Given the description of an element on the screen output the (x, y) to click on. 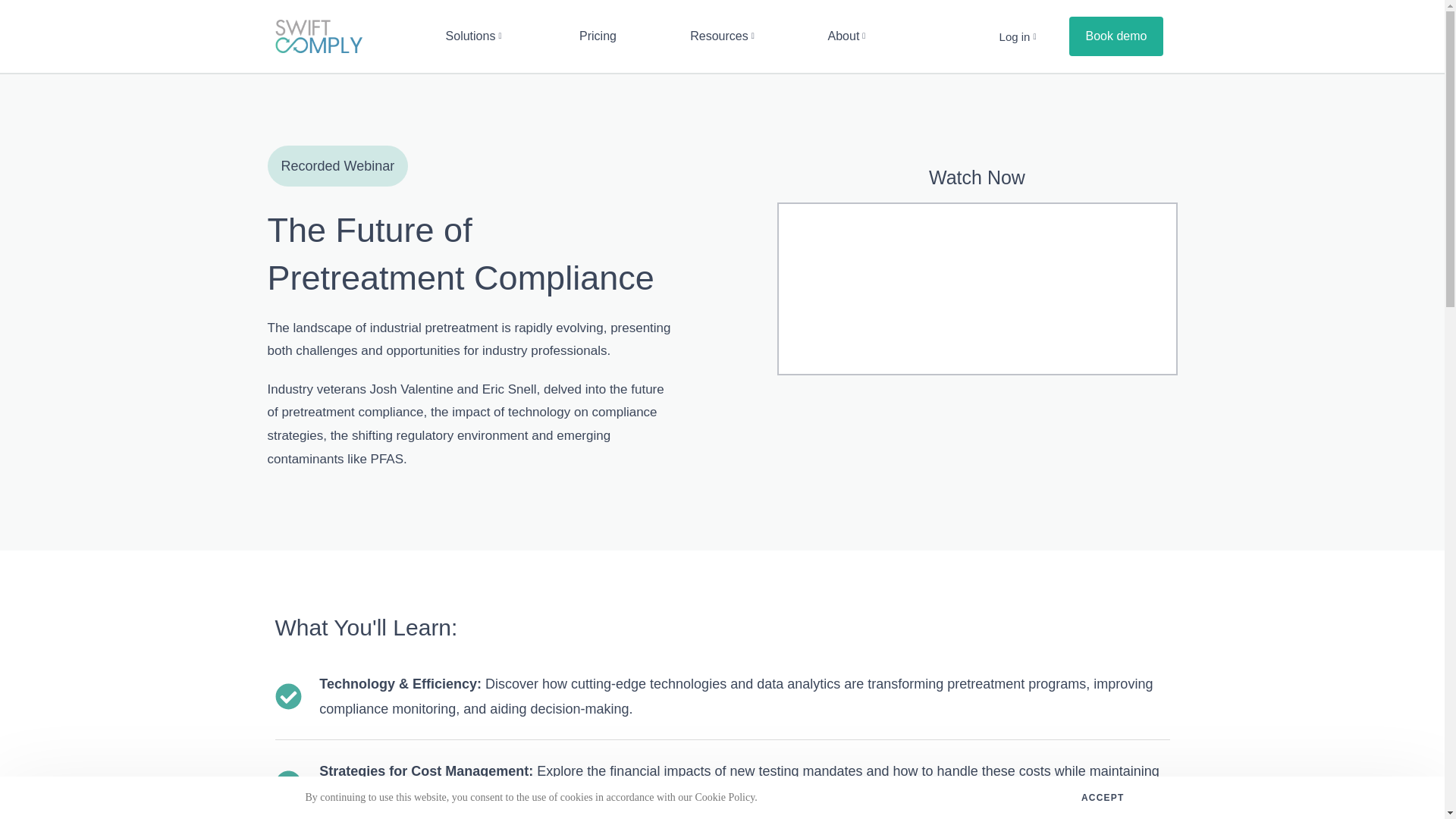
Book demo (1115, 36)
Log in (1017, 36)
Solutions (472, 36)
About (846, 36)
Resources (721, 36)
Form 0 (976, 288)
Pricing (597, 36)
